Given the description of an element on the screen output the (x, y) to click on. 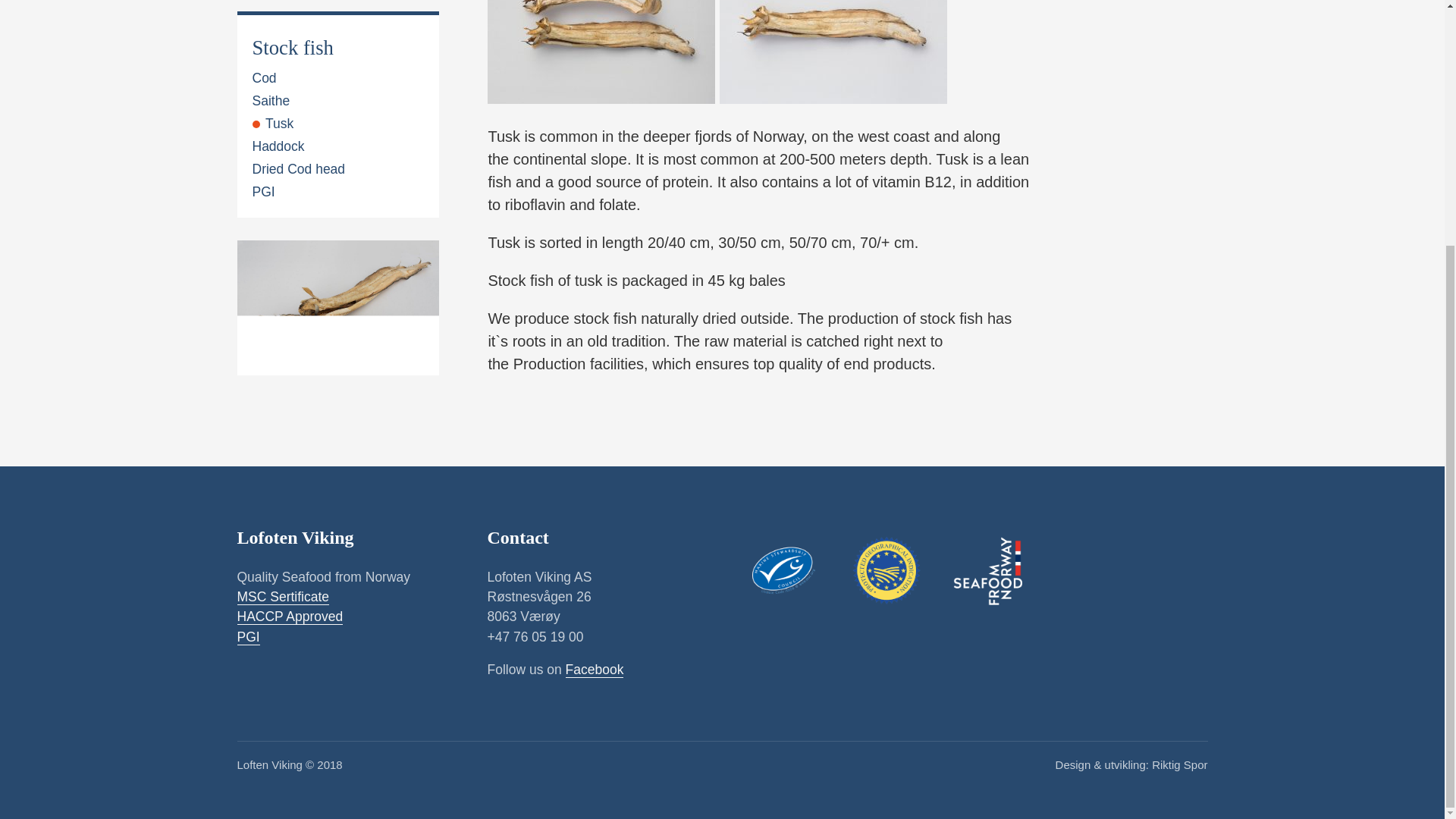
MSC Sertificate (282, 596)
Tusk (272, 6)
Facebook (595, 669)
Riktig Spor (1179, 764)
PGI (247, 637)
Haddock (277, 26)
HACCP Approved (288, 616)
PGI (263, 71)
Dried Cod head (298, 48)
